Given the description of an element on the screen output the (x, y) to click on. 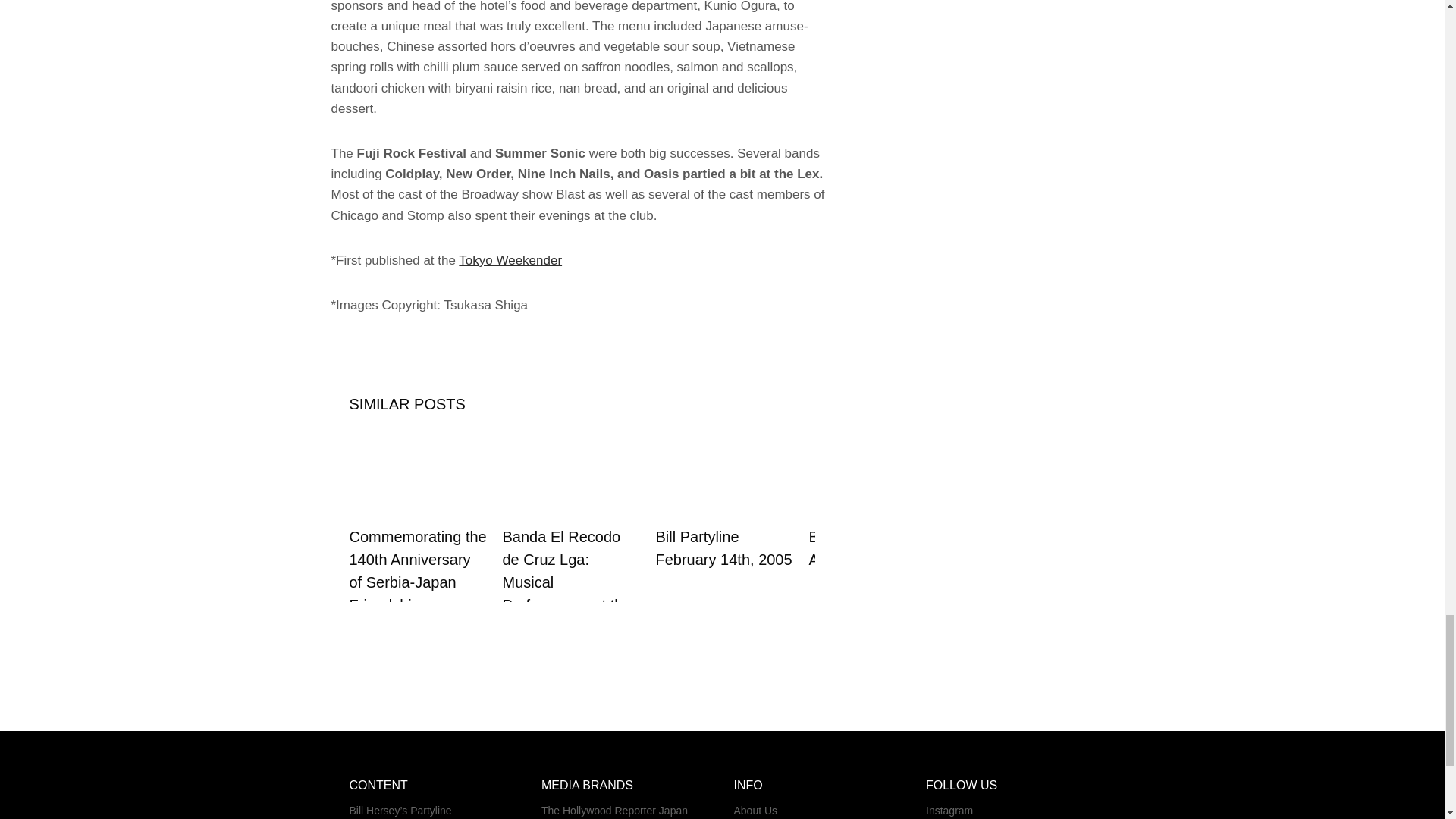
Tokyo Weekender (510, 260)
The Hollywood Reporter Japan (626, 809)
Bill Partyline February 14th, 2005 (723, 548)
